Given the description of an element on the screen output the (x, y) to click on. 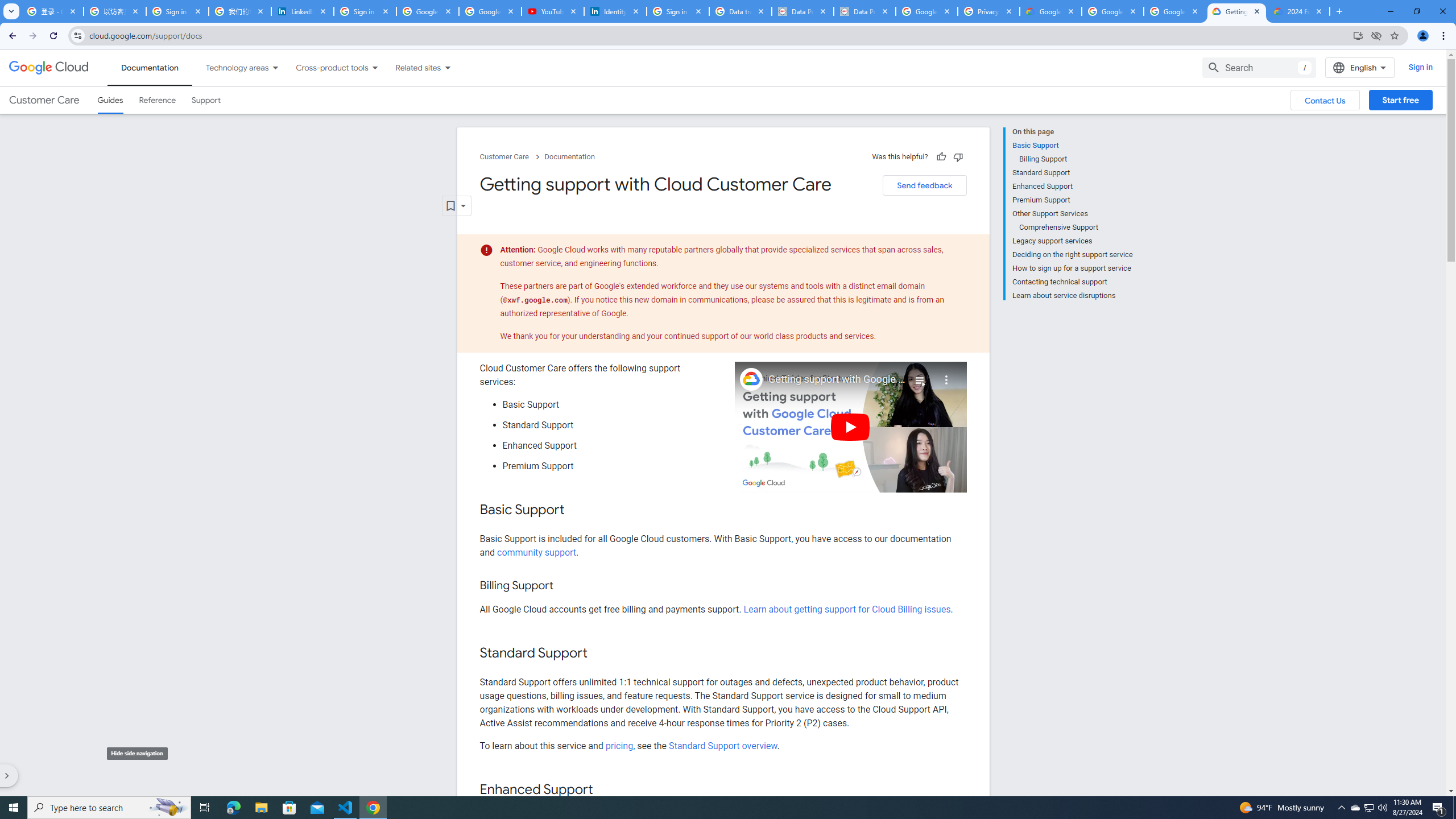
Sign in - Google Accounts (365, 11)
Getting support with Google Cloud Customer Care (837, 379)
Playlist (919, 375)
Copy link to this section: Enhanced Support (603, 789)
Dropdown menu for Related sites (447, 67)
community support (536, 552)
More (946, 375)
Related sites (411, 67)
Billing Support (1075, 159)
Other Support Services (1071, 213)
Helpful (940, 156)
Enhanced Support (1071, 186)
Search (1259, 67)
Learn about service disruptions (1071, 294)
